Given the description of an element on the screen output the (x, y) to click on. 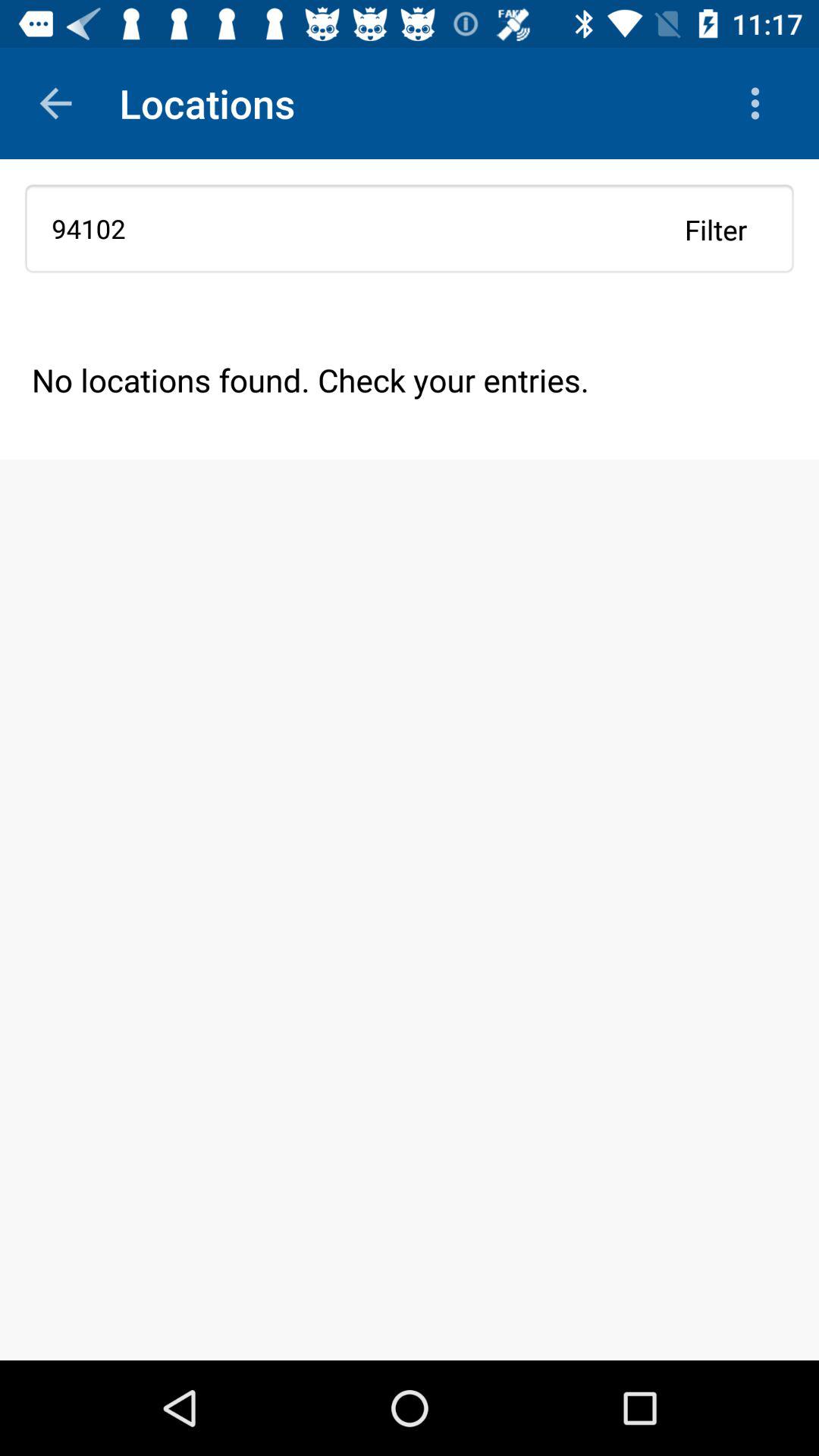
turn on the 94102 (409, 228)
